Given the description of an element on the screen output the (x, y) to click on. 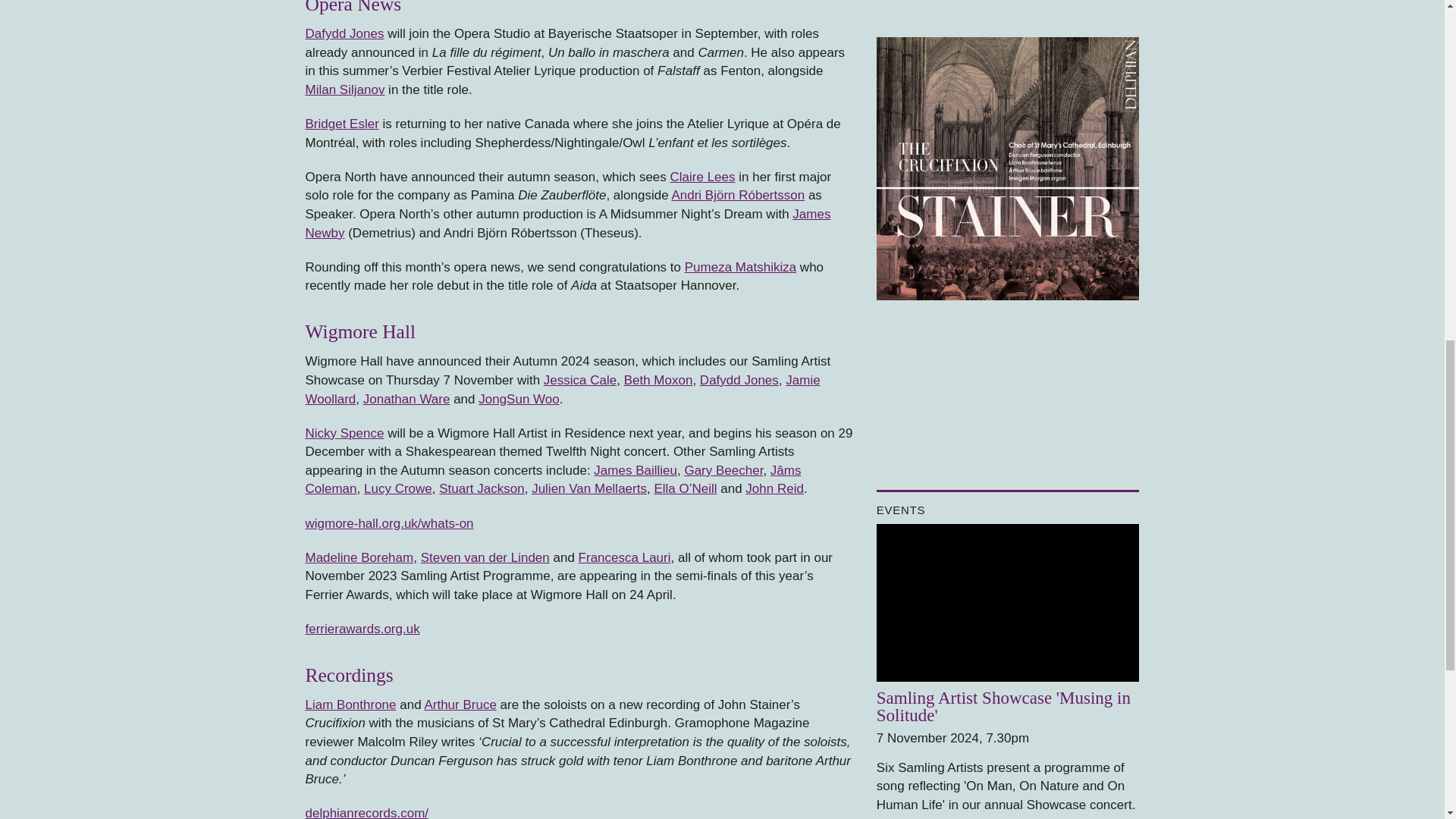
Pumeza Matshikiza (740, 267)
Jessica Cale (579, 380)
James Newby (566, 223)
Dafydd Jones (344, 33)
Claire Lees (702, 176)
Dafydd Jones (739, 380)
Bridget Esler (341, 124)
Jamie Woollard (561, 389)
Milan Siljanov (344, 89)
Beth Moxon (658, 380)
